Given the description of an element on the screen output the (x, y) to click on. 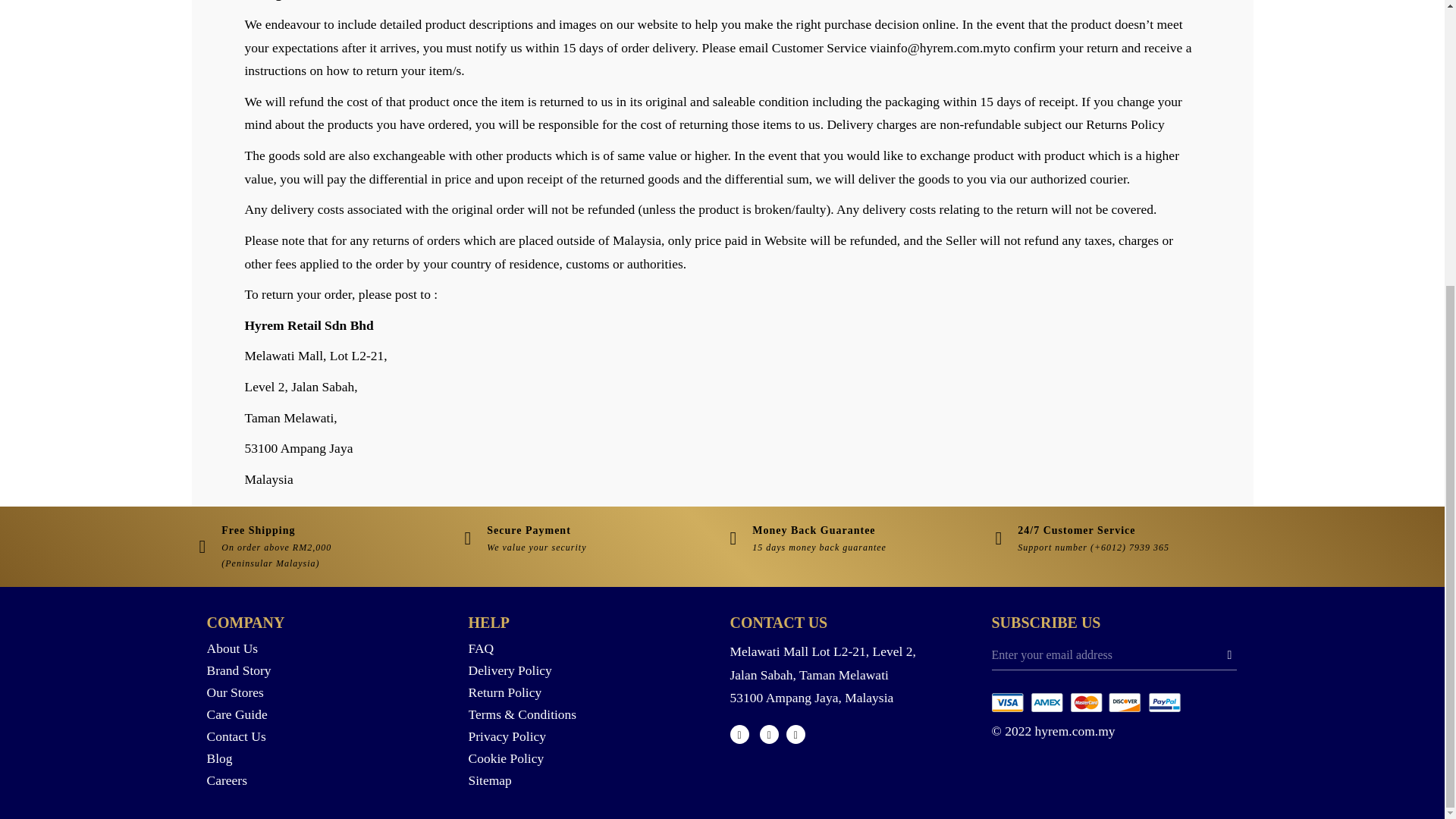
Money Back Guarantee (813, 530)
Secure Payment (528, 530)
Subscribe (1228, 654)
Free Shipping (258, 530)
